Given the description of an element on the screen output the (x, y) to click on. 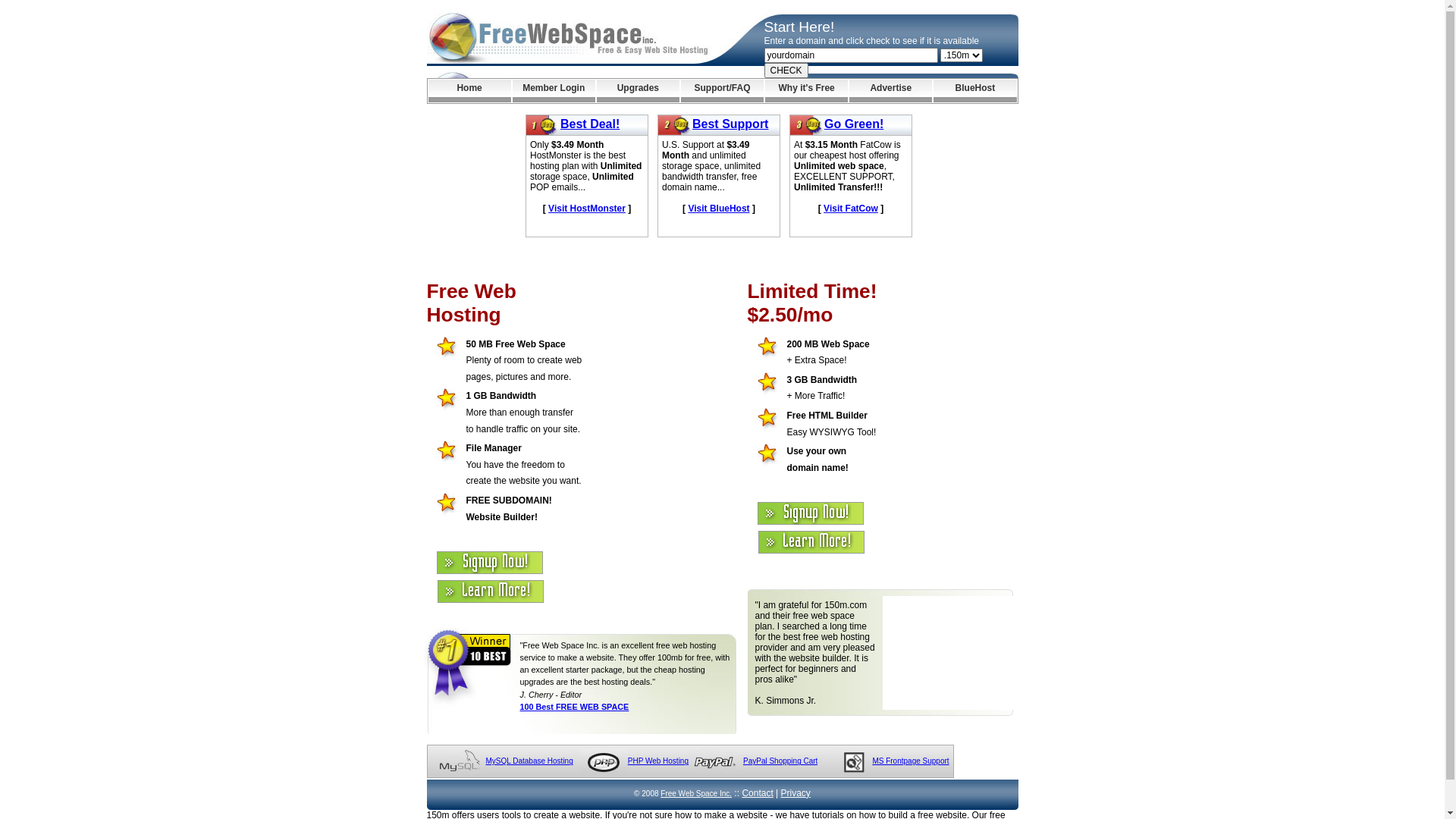
Home Element type: text (468, 90)
Advertise Element type: text (890, 90)
BlueHost Element type: text (974, 90)
CHECK Element type: text (786, 70)
Member Login Element type: text (553, 90)
PHP Web Hosting Element type: text (657, 760)
Upgrades Element type: text (637, 90)
MS Frontpage Support Element type: text (910, 760)
Privacy Element type: text (795, 792)
Why it's Free Element type: text (806, 90)
Free Web Space Inc. Element type: text (695, 793)
100 Best FREE WEB SPACE Element type: text (574, 706)
PayPal Shopping Cart Element type: text (780, 760)
Contact Element type: text (756, 792)
MySQL Database Hosting Element type: text (528, 760)
Support/FAQ Element type: text (721, 90)
